Given the description of an element on the screen output the (x, y) to click on. 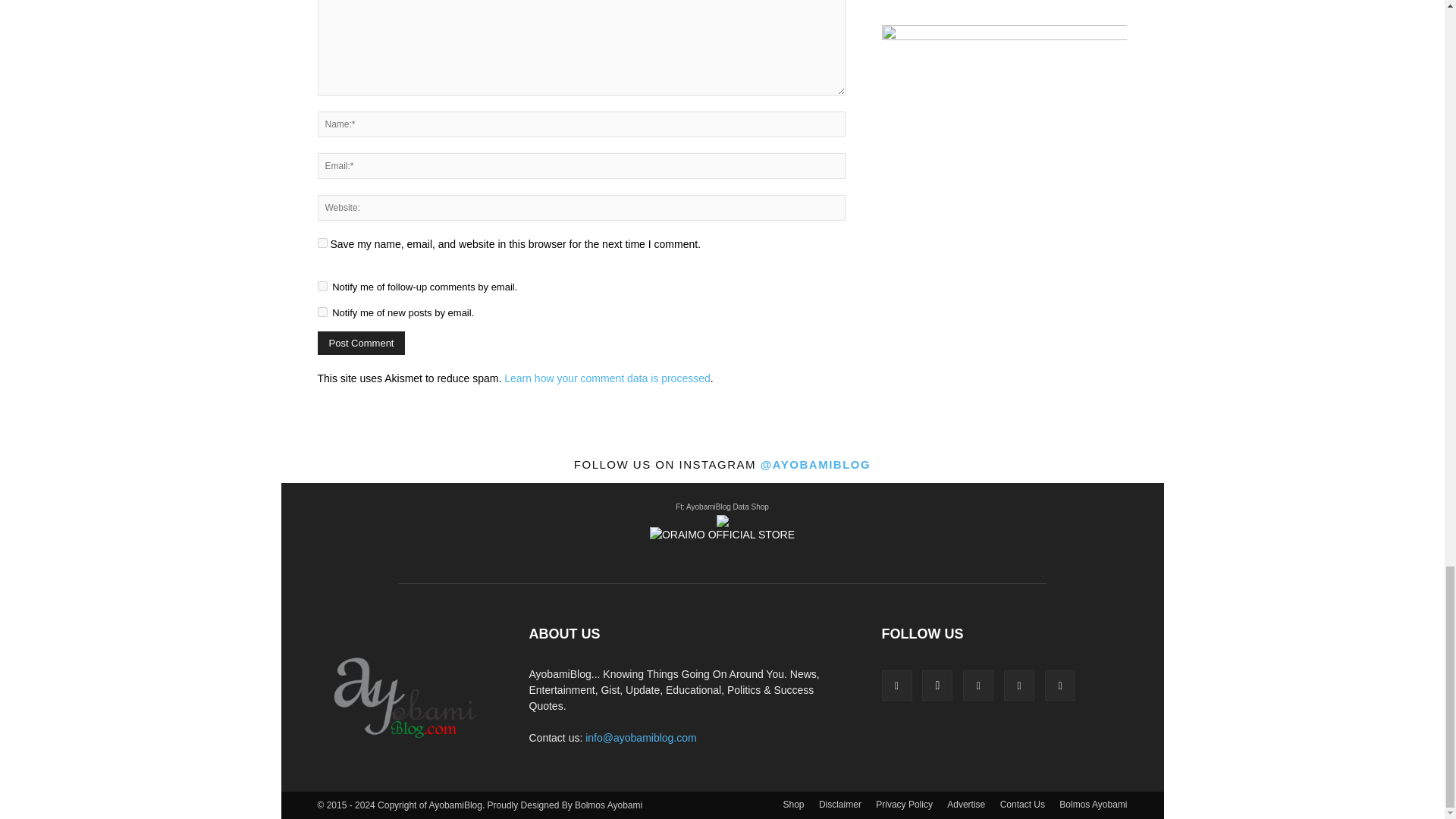
yes (321, 243)
subscribe (321, 286)
Post Comment (360, 342)
subscribe (321, 311)
